Given the description of an element on the screen output the (x, y) to click on. 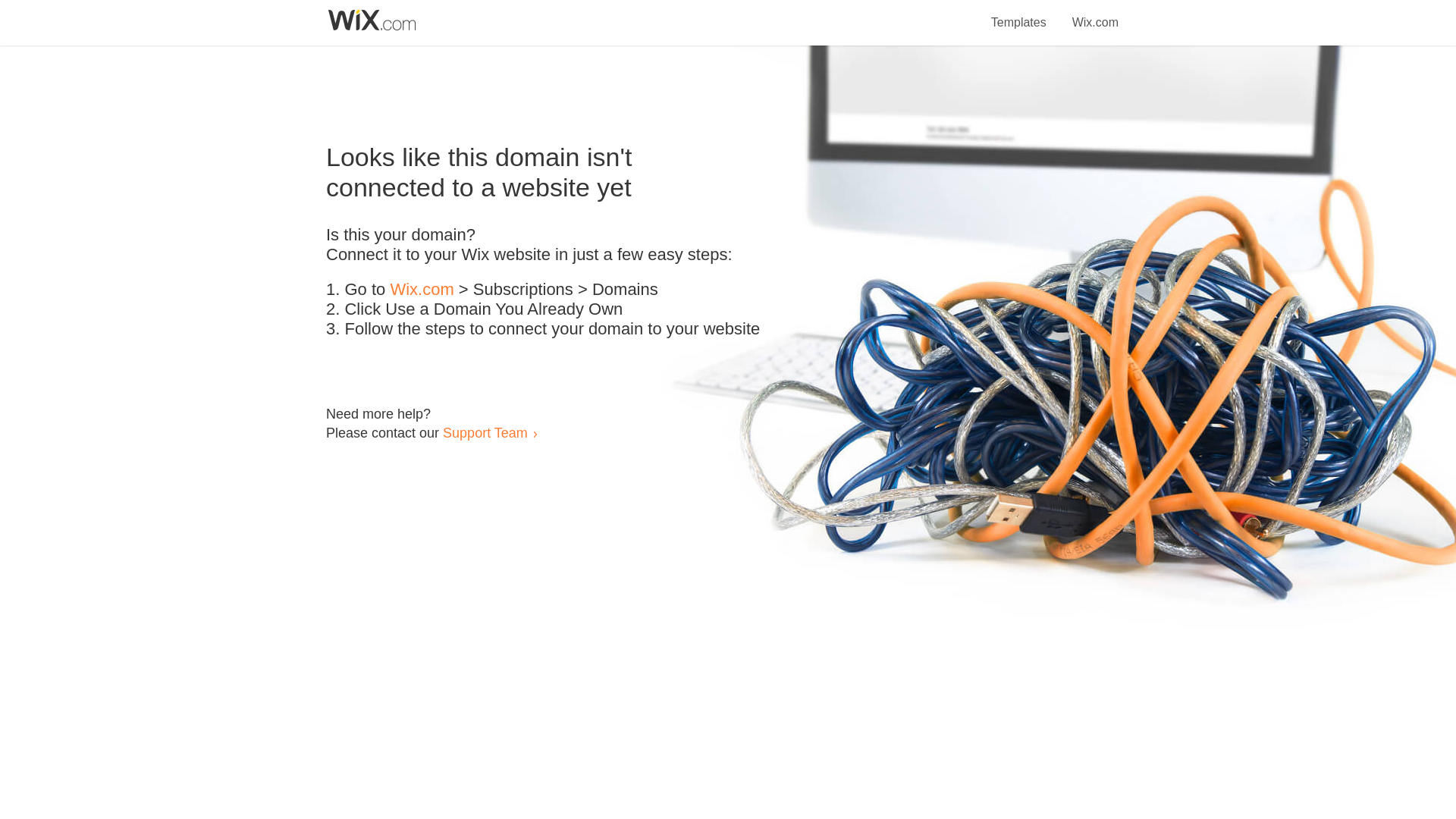
Wix.com (421, 289)
Support Team (484, 432)
Wix.com (1095, 14)
Templates (1018, 14)
